Given the description of an element on the screen output the (x, y) to click on. 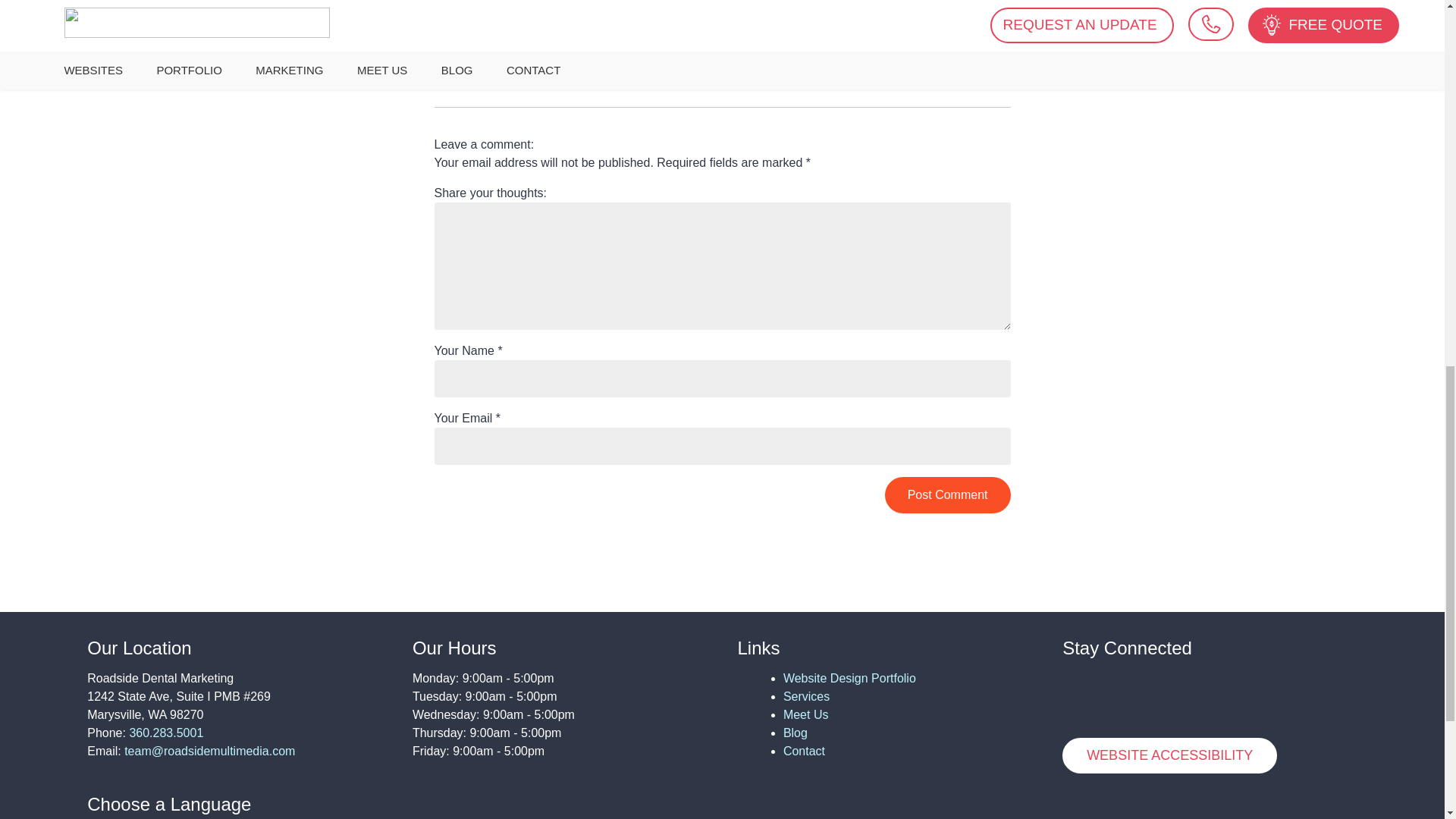
Massive Changes To Google Business Profile in 2024 (722, 26)
Massive Changes To Google Business Profile in 2024 (722, 26)
Post Comment (947, 494)
Post Comment (947, 494)
